Given the description of an element on the screen output the (x, y) to click on. 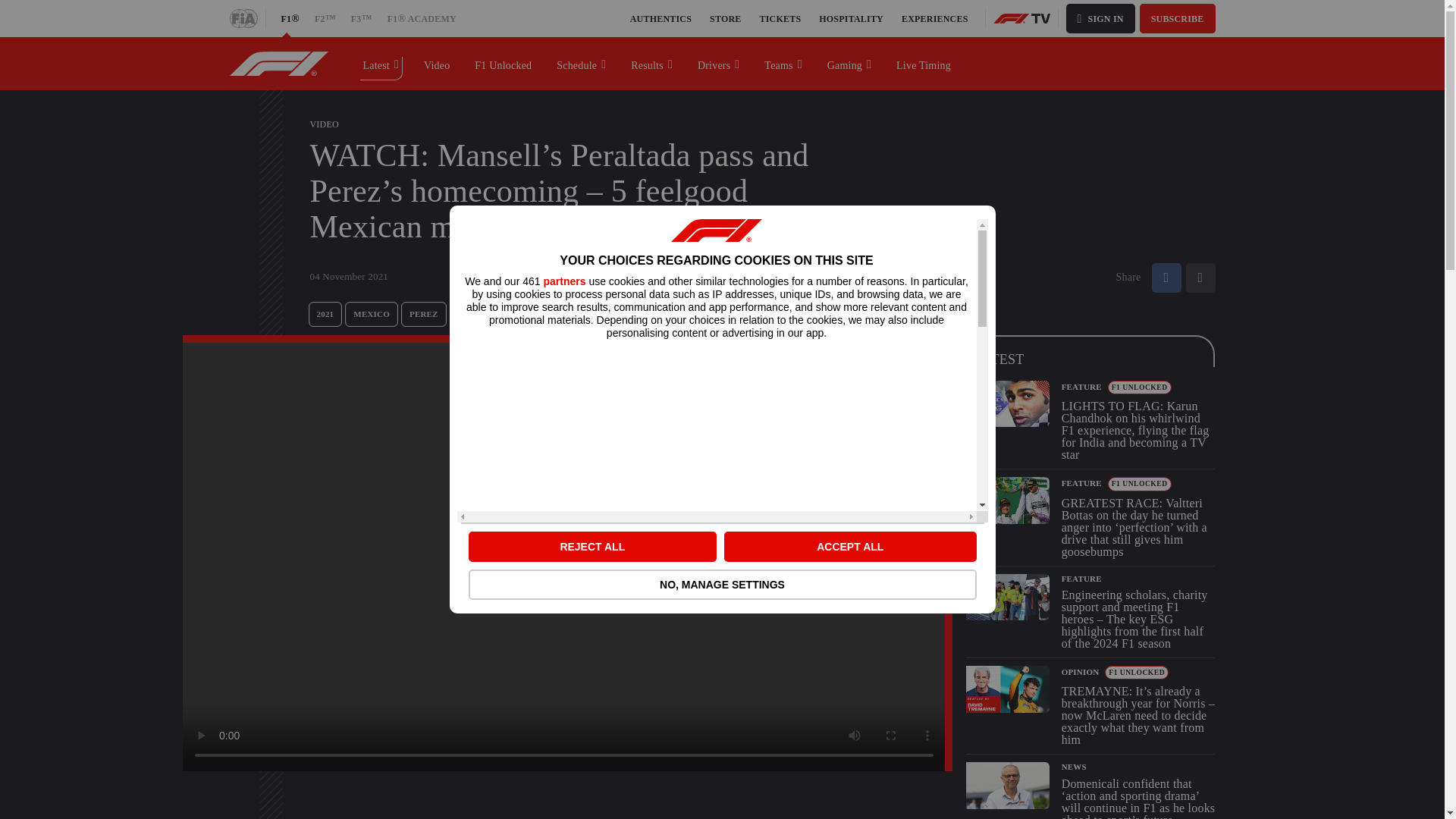
SUBSCRIBE (1177, 18)
NIGEL MANSELL (493, 314)
Live Timing (923, 63)
Video (437, 63)
Latest (380, 63)
Schedule (581, 63)
EXPERIENCES (934, 18)
HOSPITALITY (850, 18)
F1 Unlocked (503, 63)
